Given the description of an element on the screen output the (x, y) to click on. 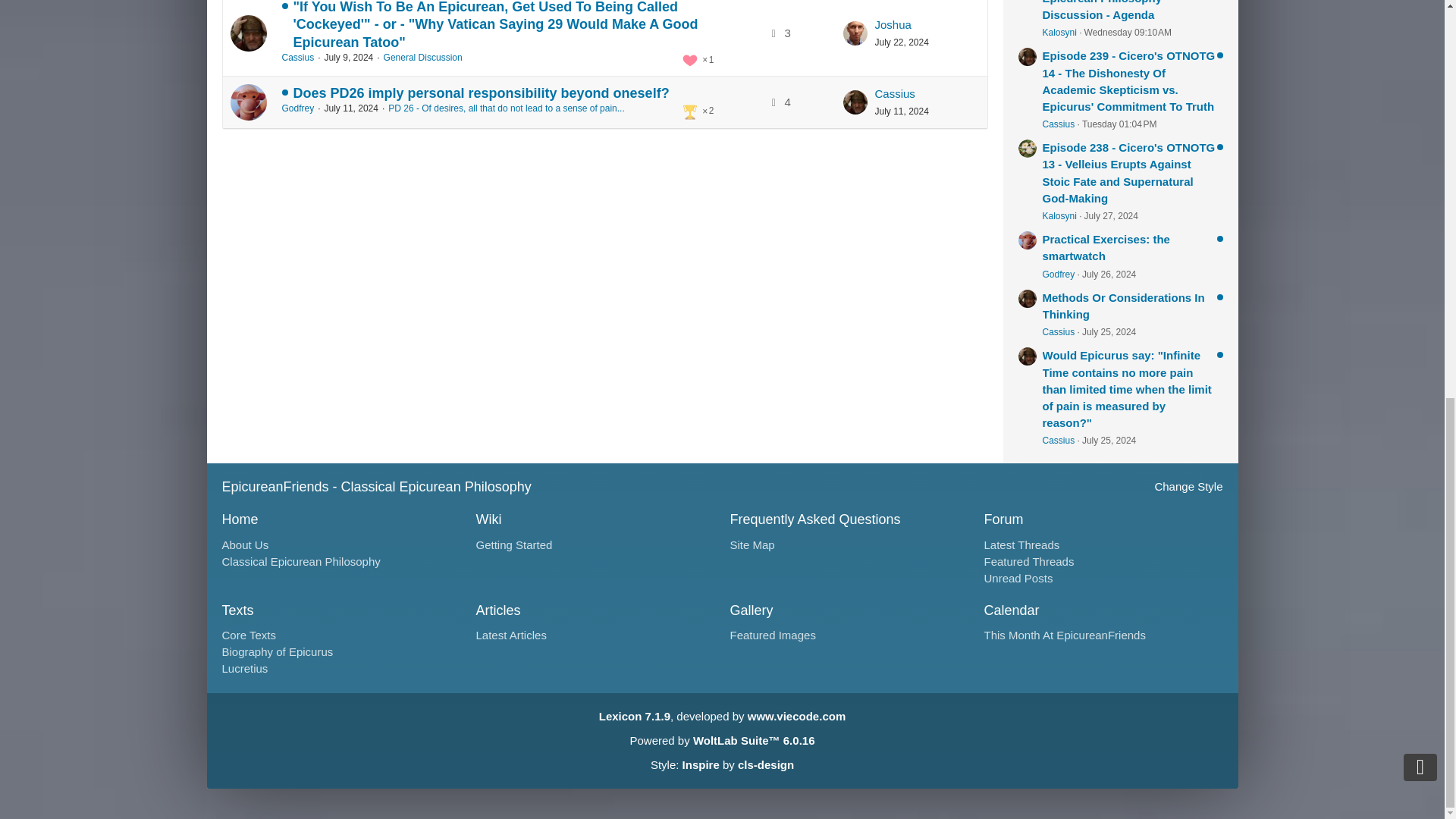
Double-Click to Mark This Thread Read (248, 33)
Double-Click to Mark This Thread Read (248, 102)
